Given the description of an element on the screen output the (x, y) to click on. 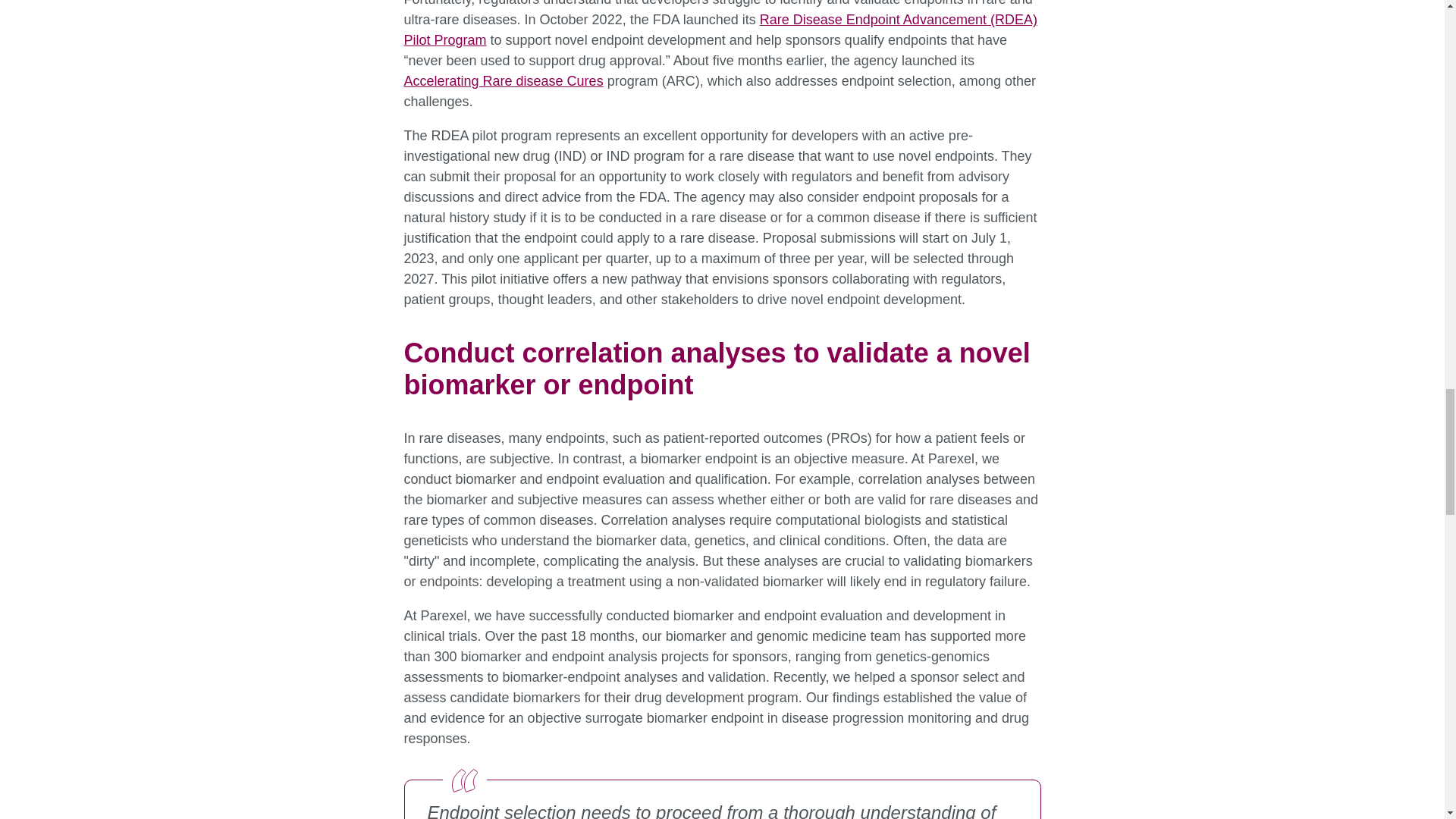
Accelerating Rare disease Cures (502, 80)
